Given the description of an element on the screen output the (x, y) to click on. 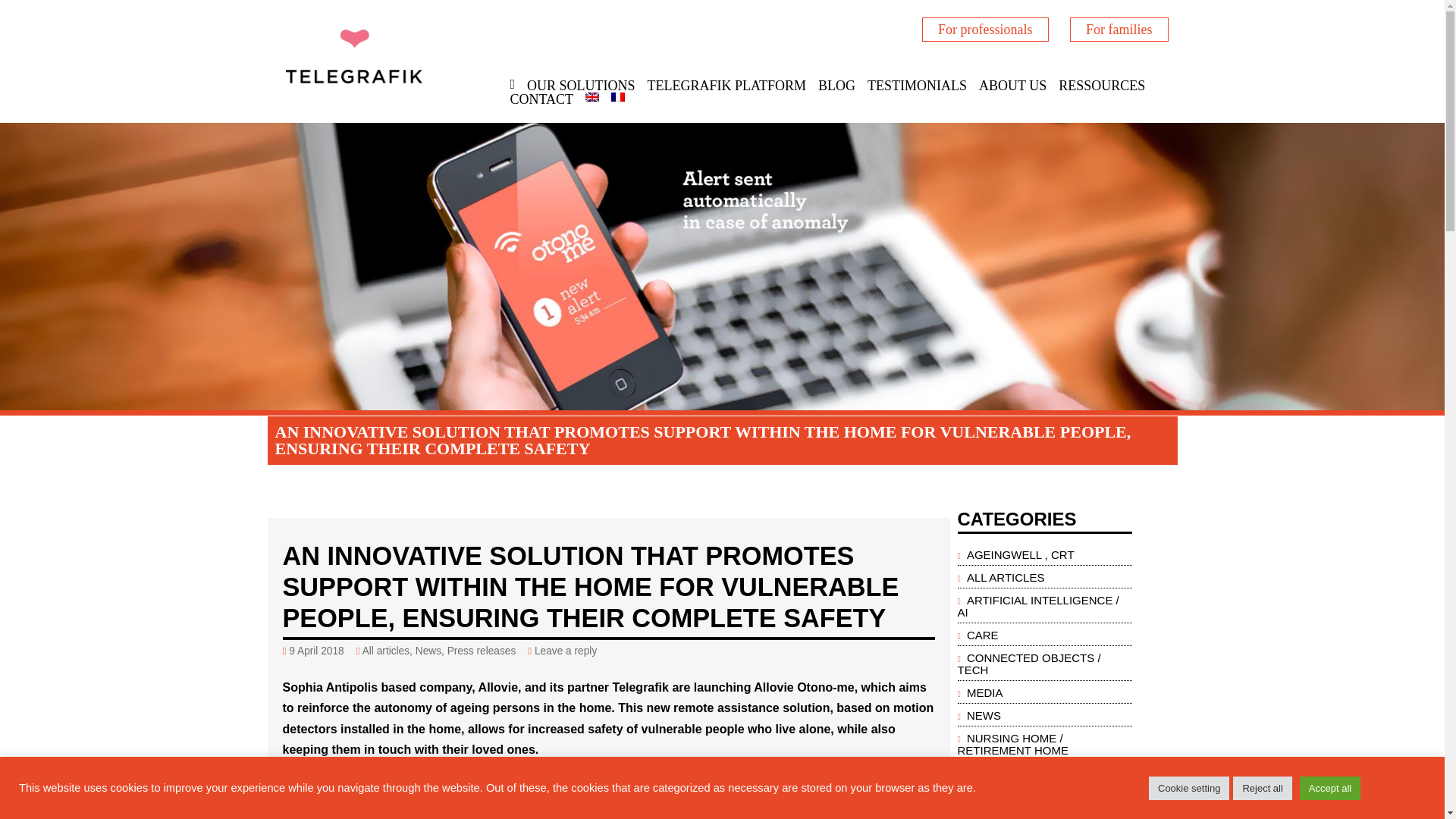
Espace Client (984, 29)
ALL ARTICLES (1005, 576)
All articles (385, 650)
Leave a reply (565, 650)
Espace Client (1119, 29)
For families (1119, 29)
TELEGRAFIK PLATFORM (726, 85)
AGEINGWELL , CRT (1020, 553)
Press releases (481, 650)
News (427, 650)
